Given the description of an element on the screen output the (x, y) to click on. 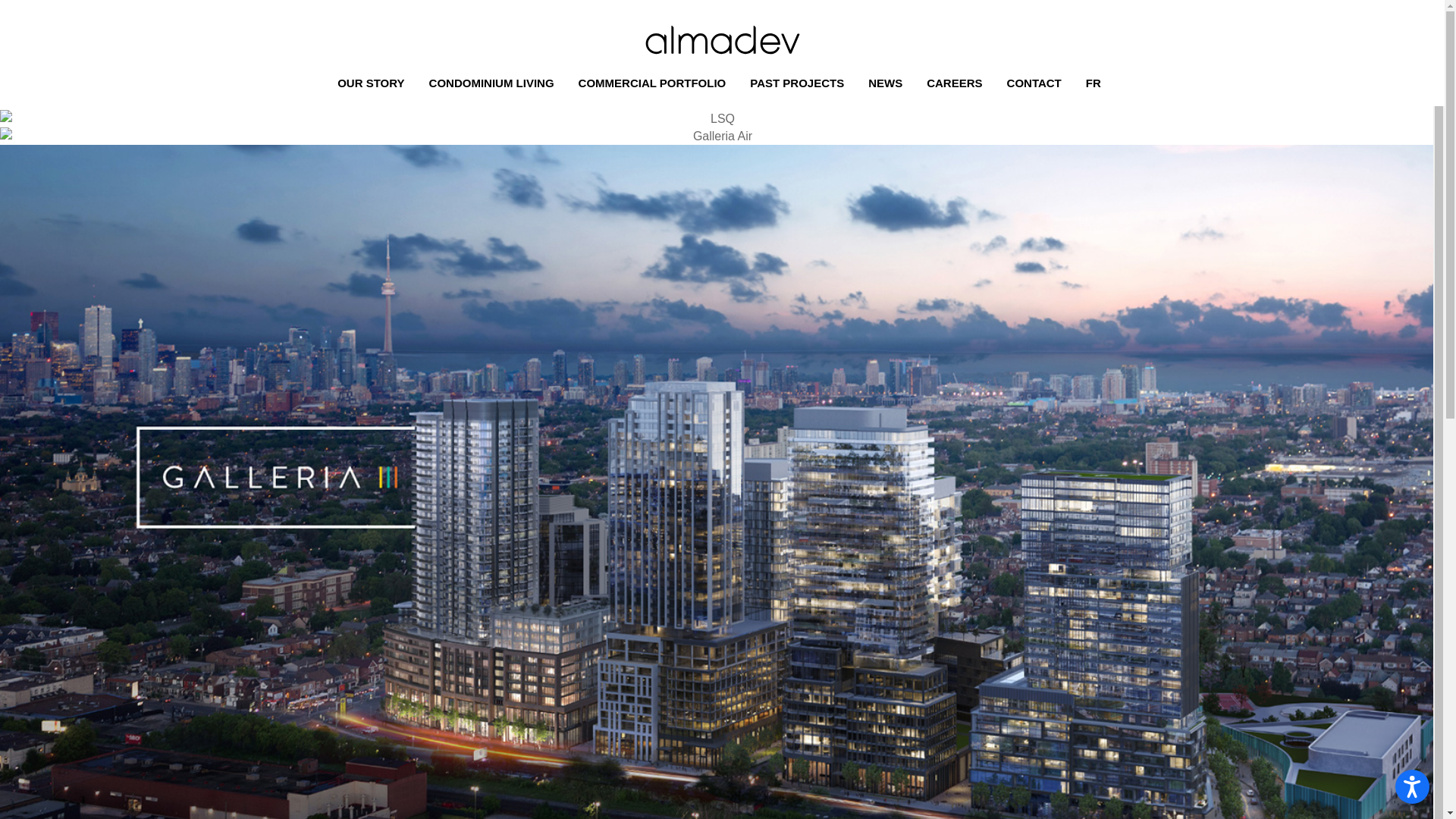
FR Element type: text (1096, 82)
CONDOMINIUM LIVING Element type: text (494, 82)
COMMERCIAL PORTFOLIO Element type: text (655, 82)
CAREERS Element type: text (957, 82)
OUR STORY Element type: text (373, 82)
NEWS Element type: text (888, 82)
CONTACT Element type: text (1036, 82)
PAST PROJECTS Element type: text (799, 82)
